Given the description of an element on the screen output the (x, y) to click on. 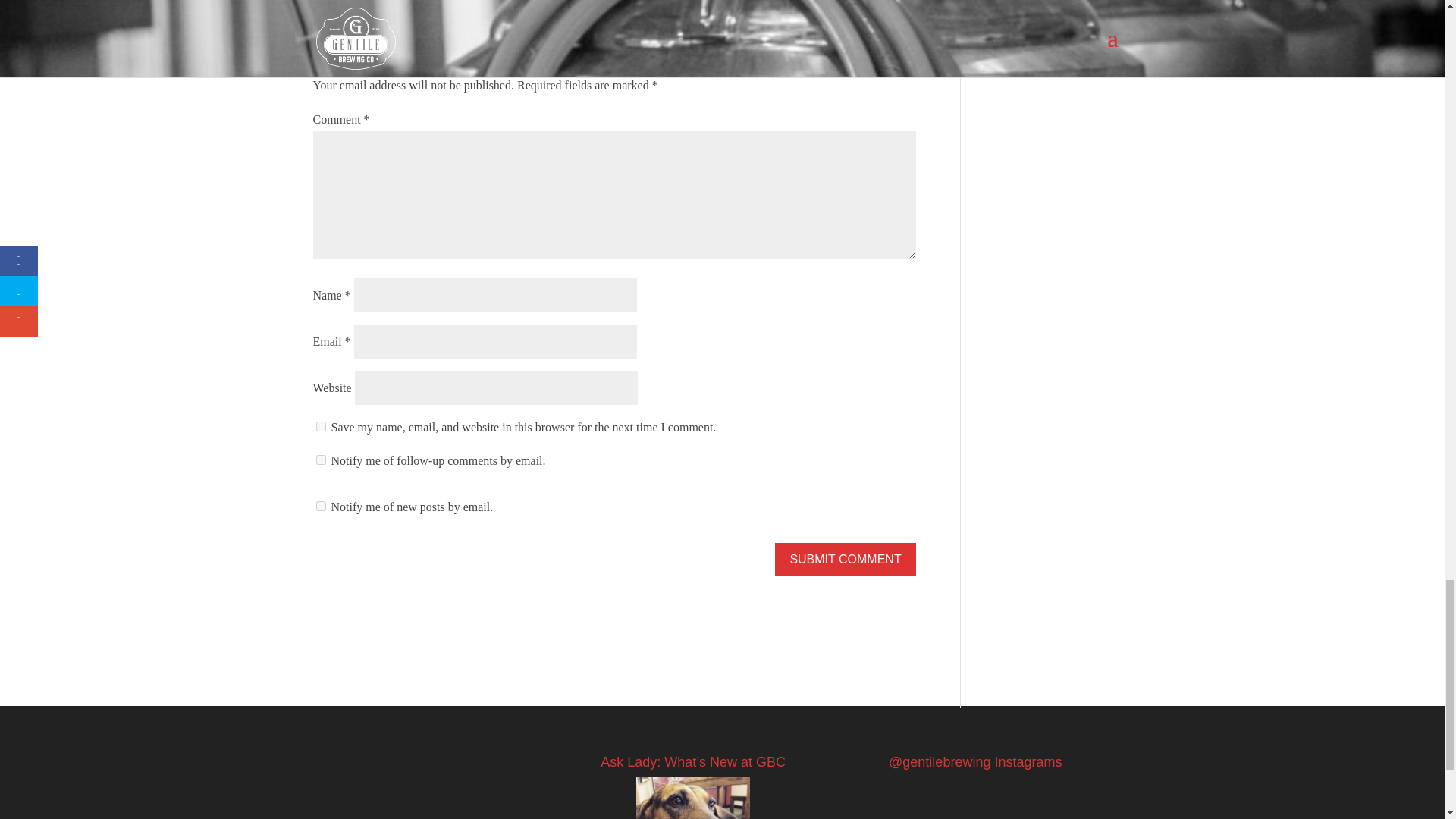
subscribe (319, 506)
yes (319, 426)
Submit Comment (844, 558)
subscribe (319, 460)
Submit Comment (844, 558)
